Given the description of an element on the screen output the (x, y) to click on. 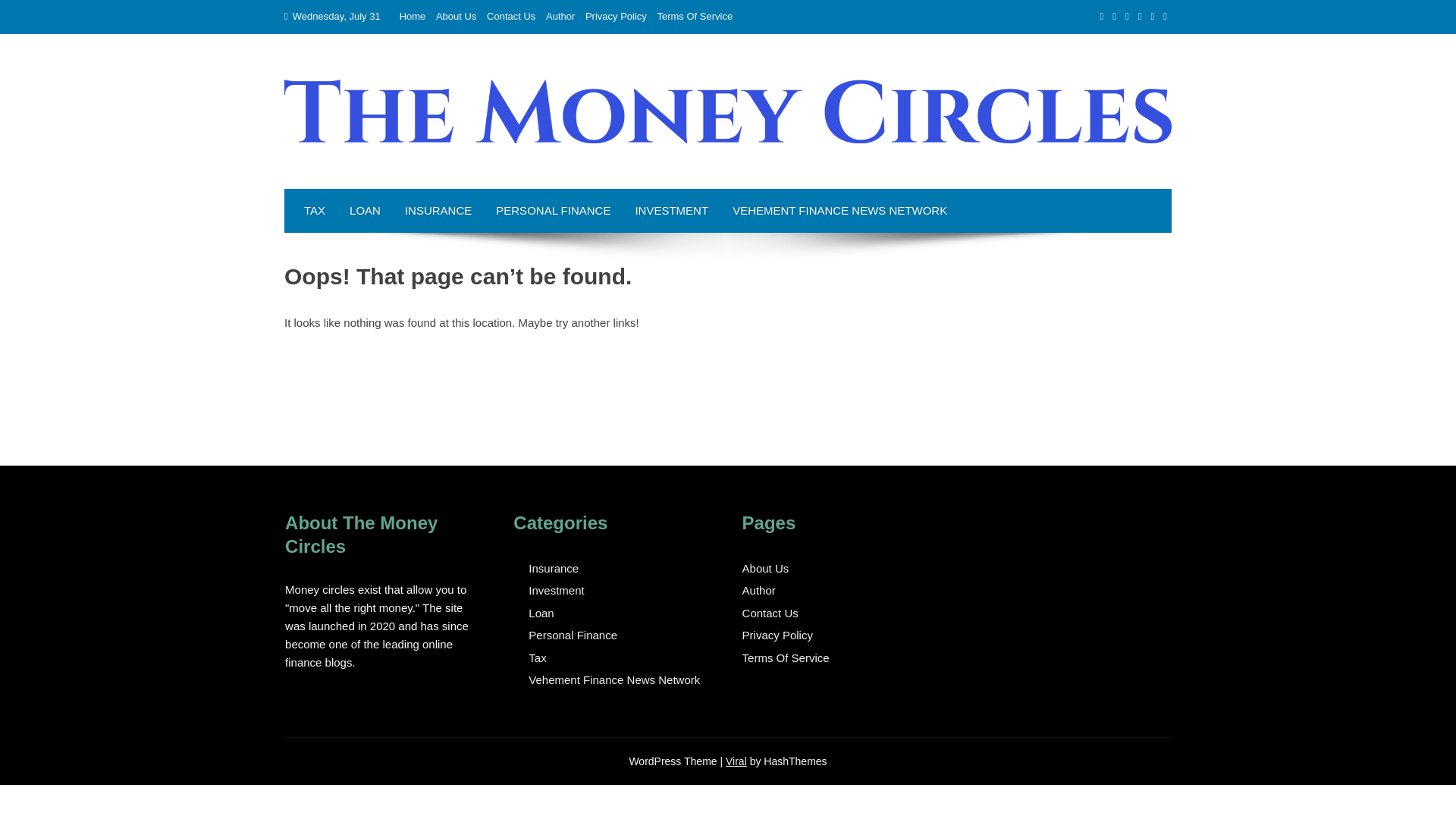
Author (560, 16)
VEHEMENT FINANCE NEWS NETWORK (839, 210)
PERSONAL FINANCE (553, 210)
Tax (537, 657)
Loan (540, 613)
INSURANCE (438, 210)
Contact Us (510, 16)
Author (759, 590)
Insurance (553, 568)
About Us (765, 567)
Home (412, 16)
LOAN (365, 210)
Contact Us (769, 612)
INVESTMENT (671, 210)
Vehement Finance News Network (614, 679)
